Given the description of an element on the screen output the (x, y) to click on. 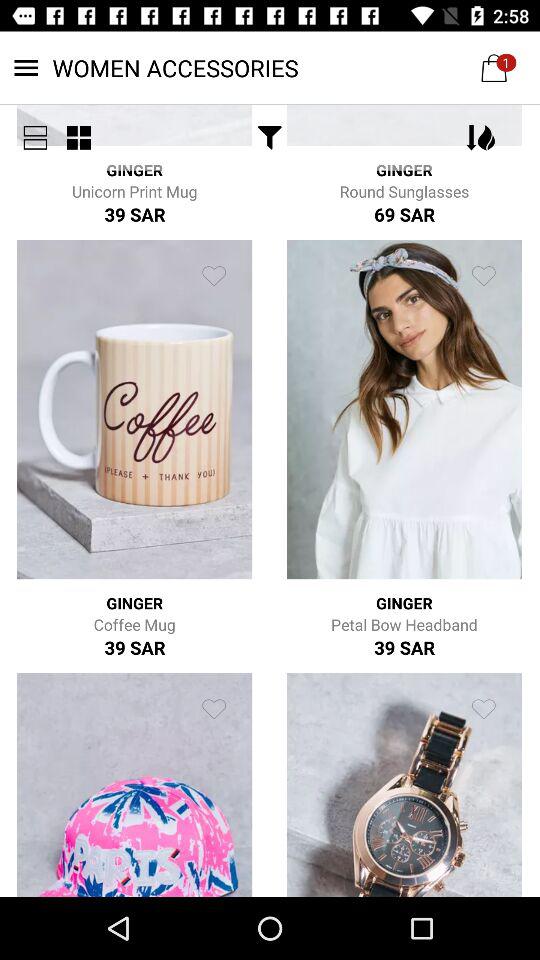
turn off the item next to ginger (269, 137)
